Given the description of an element on the screen output the (x, y) to click on. 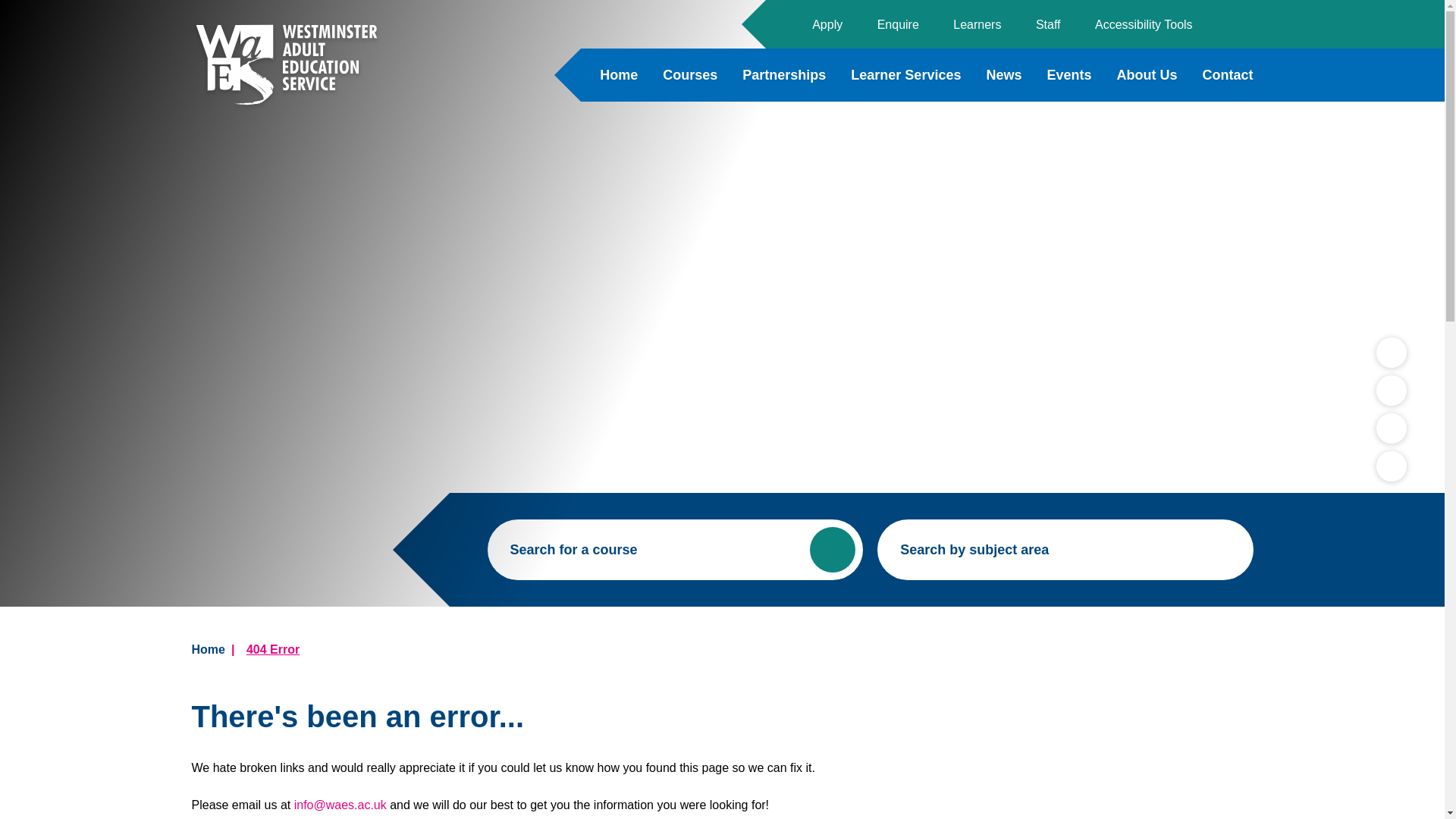
Learners (974, 24)
Apply (824, 24)
Staff (1045, 24)
Home (618, 74)
Courses (690, 74)
Enquire (895, 24)
Accessibility Tools (1141, 24)
